Given the description of an element on the screen output the (x, y) to click on. 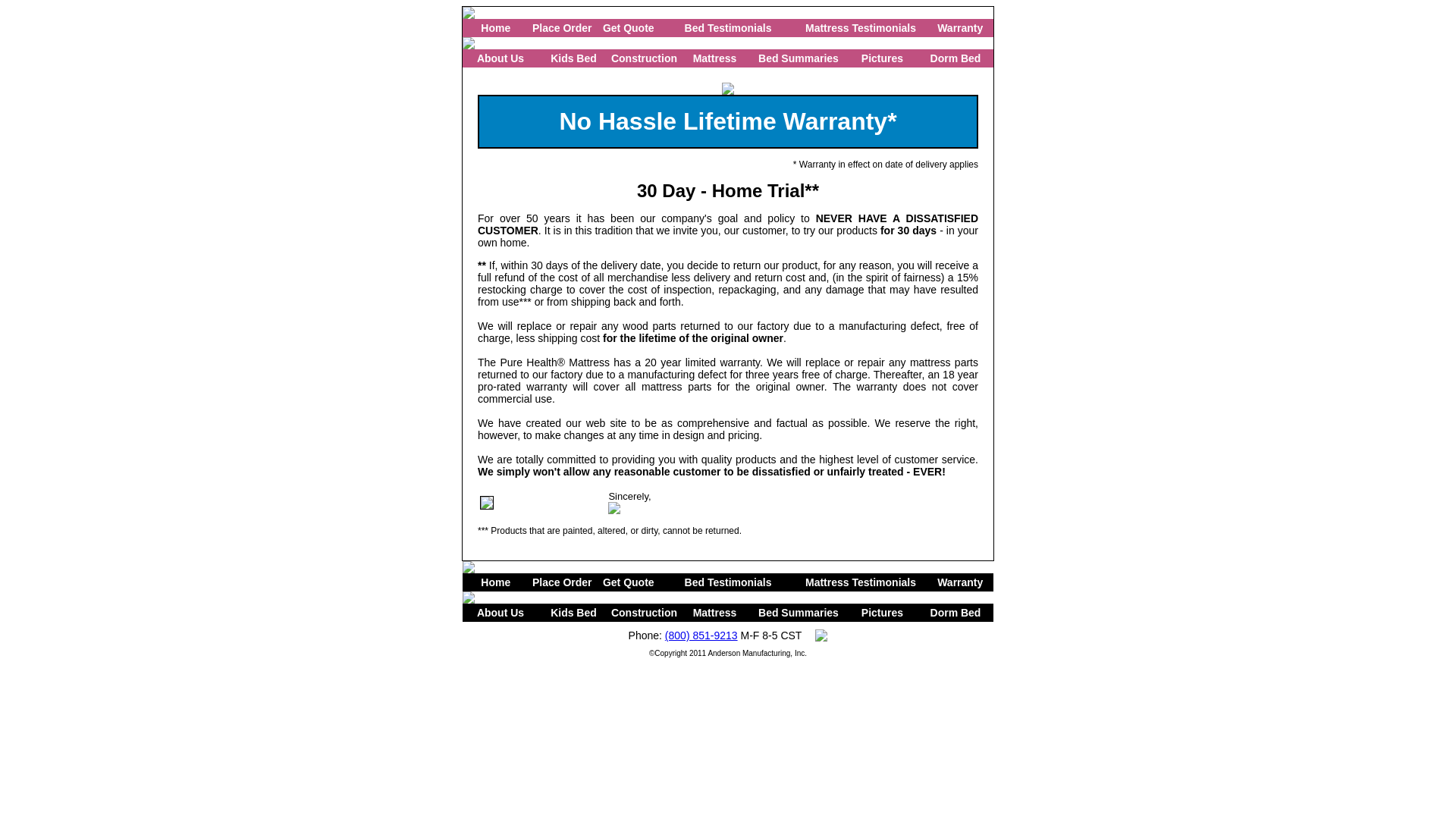
Place Order (562, 582)
Warranty (959, 28)
Kids Bed (573, 58)
Construction (644, 58)
Get Quote (627, 582)
About Us (500, 58)
Bed Testimonials (727, 28)
Mattress (714, 58)
Dorm Bed (955, 612)
Bed Summaries (798, 612)
Place Order (562, 28)
Mattress Testimonials (860, 28)
Home (495, 582)
Home (495, 28)
Bed Summaries (798, 58)
